Given the description of an element on the screen output the (x, y) to click on. 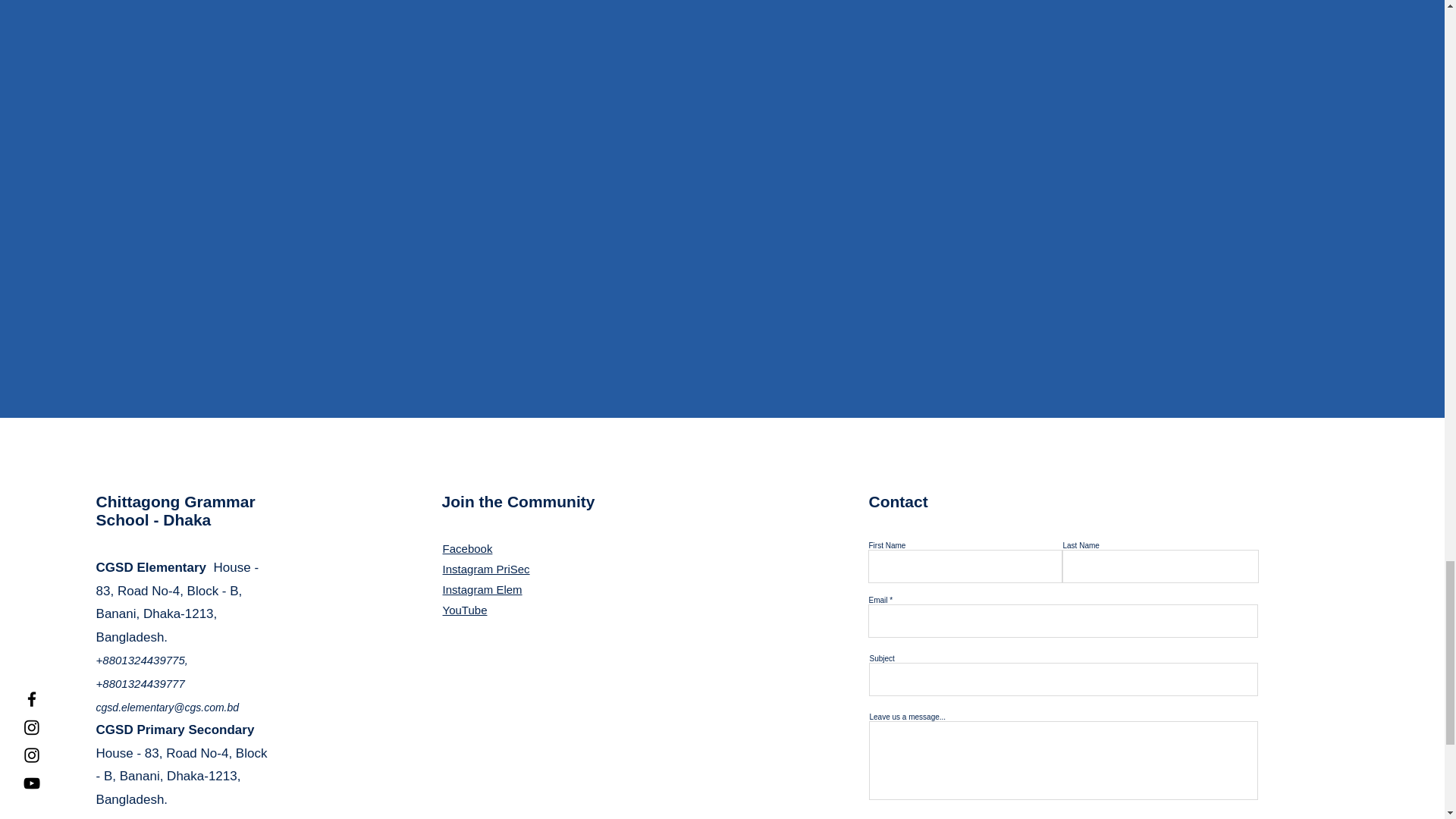
Chittagong Grammar School - Dhaka (176, 510)
Facebook (467, 548)
Instagram PriSec (485, 568)
Instagram Elem (482, 589)
YouTube (464, 609)
